Given the description of an element on the screen output the (x, y) to click on. 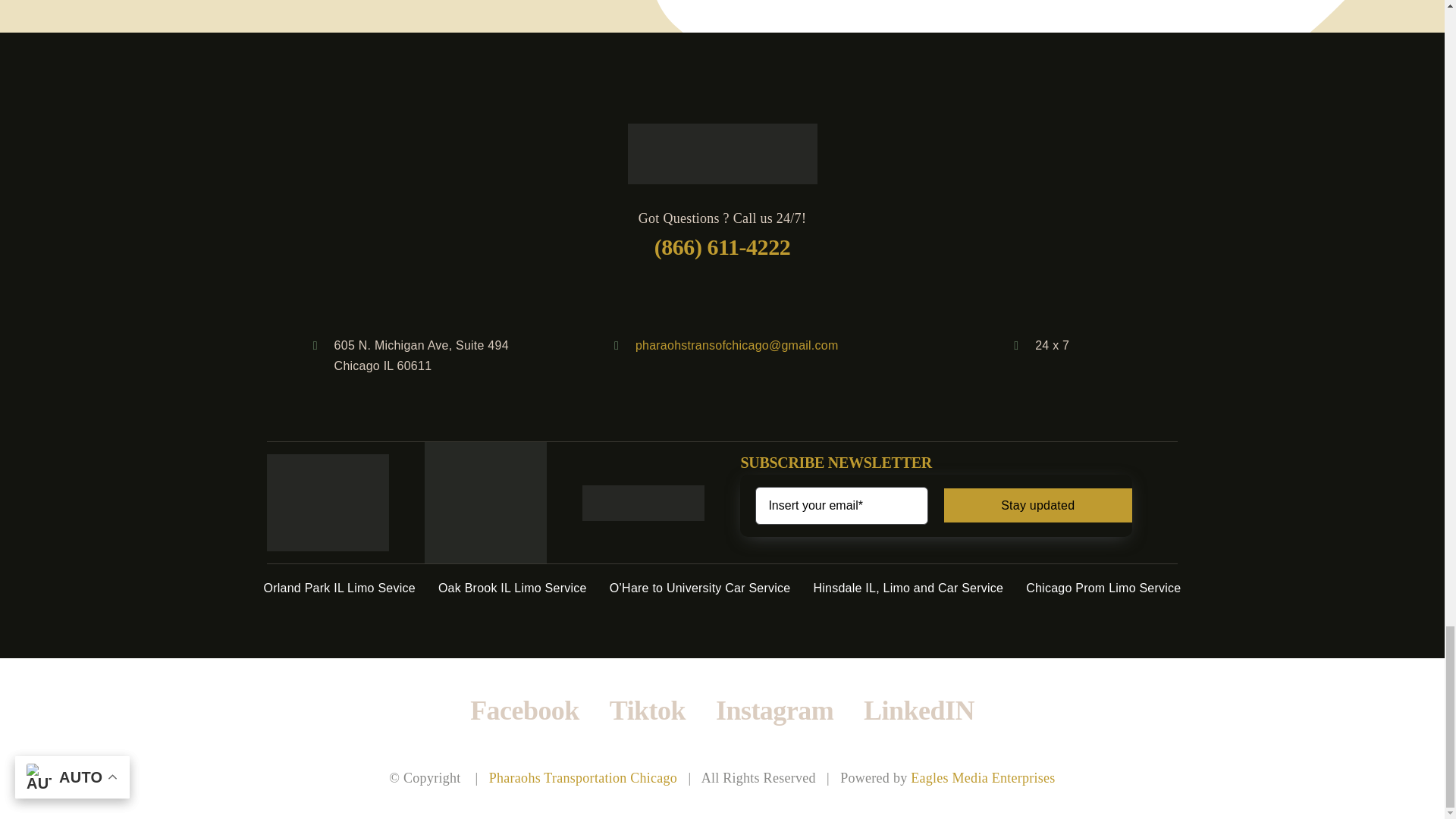
Stay updated (935, 506)
ILLBA (485, 502)
